Given the description of an element on the screen output the (x, y) to click on. 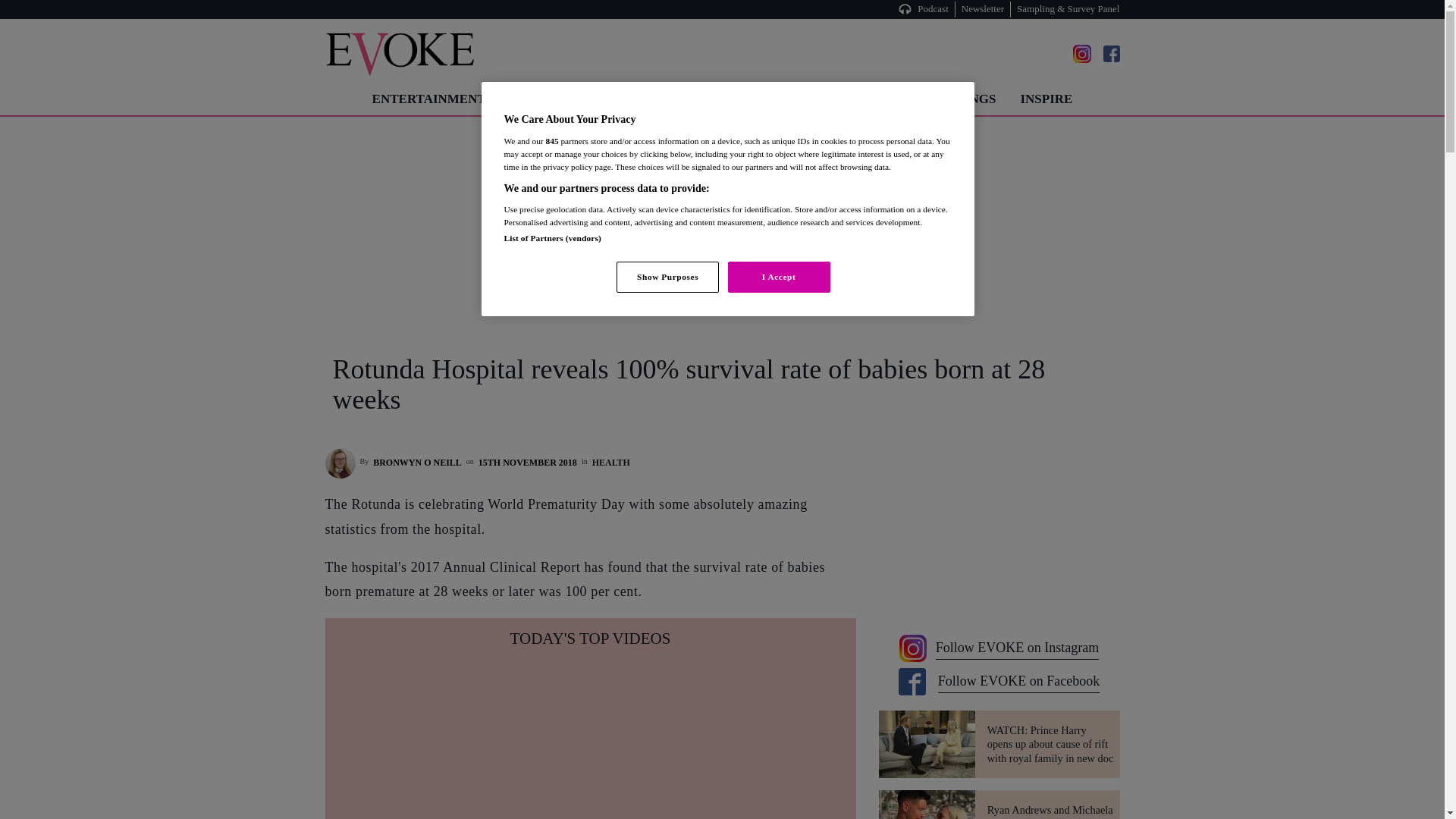
LIFESTYLE (706, 98)
WELLNESS (802, 98)
Newsletter (982, 9)
NEWS (881, 98)
FASHION (538, 98)
BEAUTY (618, 98)
Podcast (935, 9)
ENTERTAINMENT (428, 98)
